Given the description of an element on the screen output the (x, y) to click on. 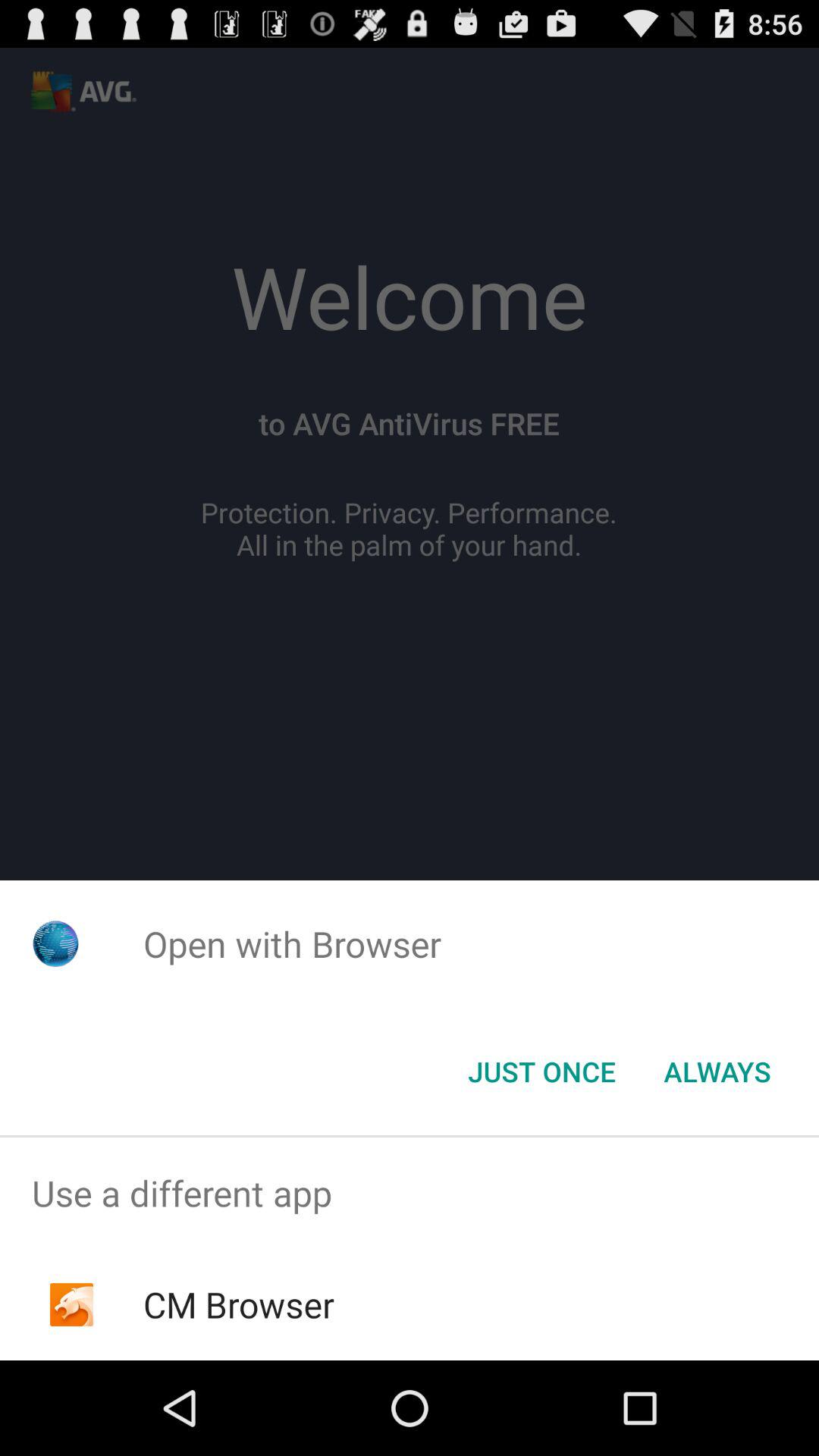
turn on the icon next to always item (541, 1071)
